Given the description of an element on the screen output the (x, y) to click on. 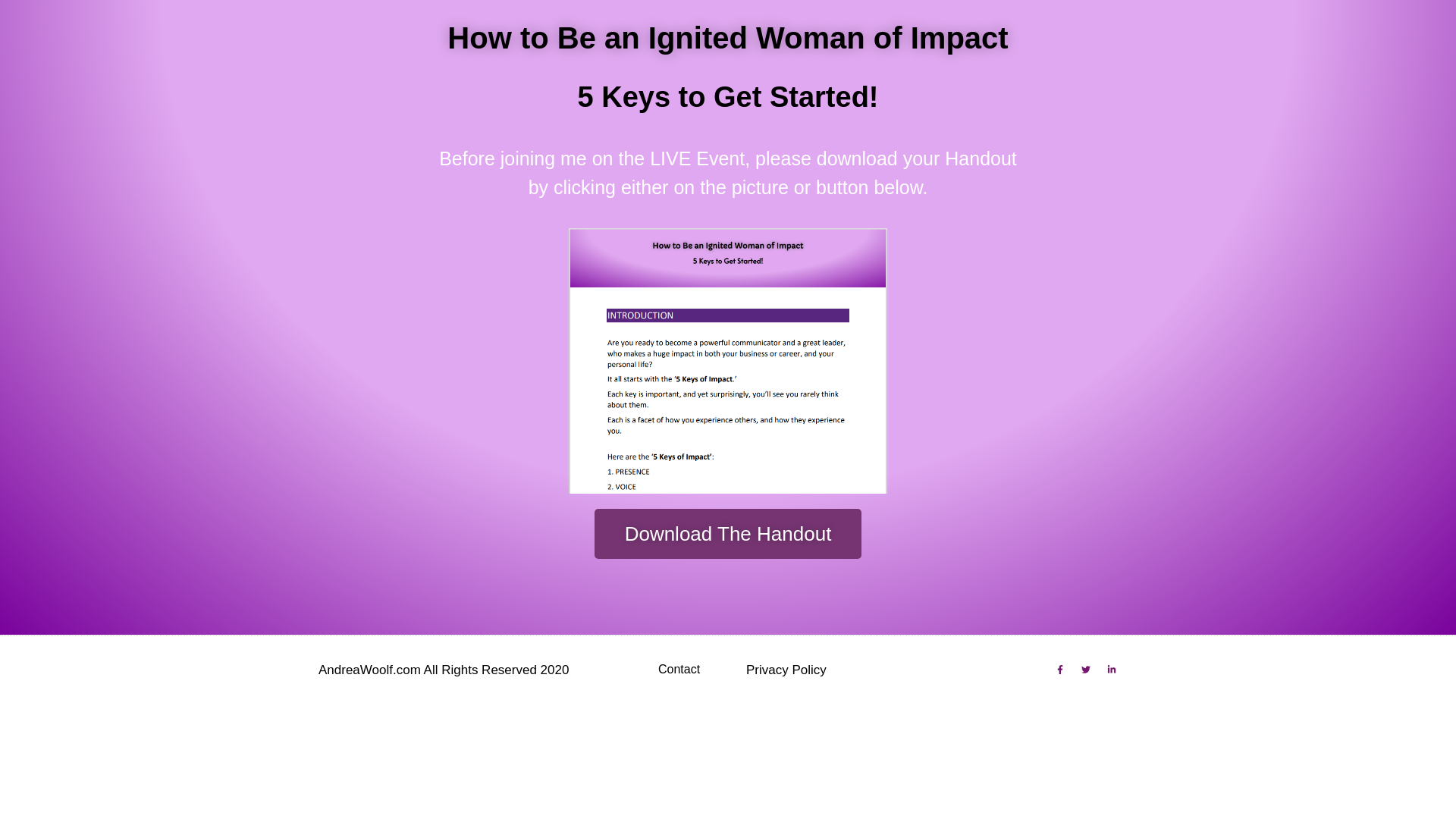
Privacy Policy (786, 669)
Contact (679, 668)
